Given the description of an element on the screen output the (x, y) to click on. 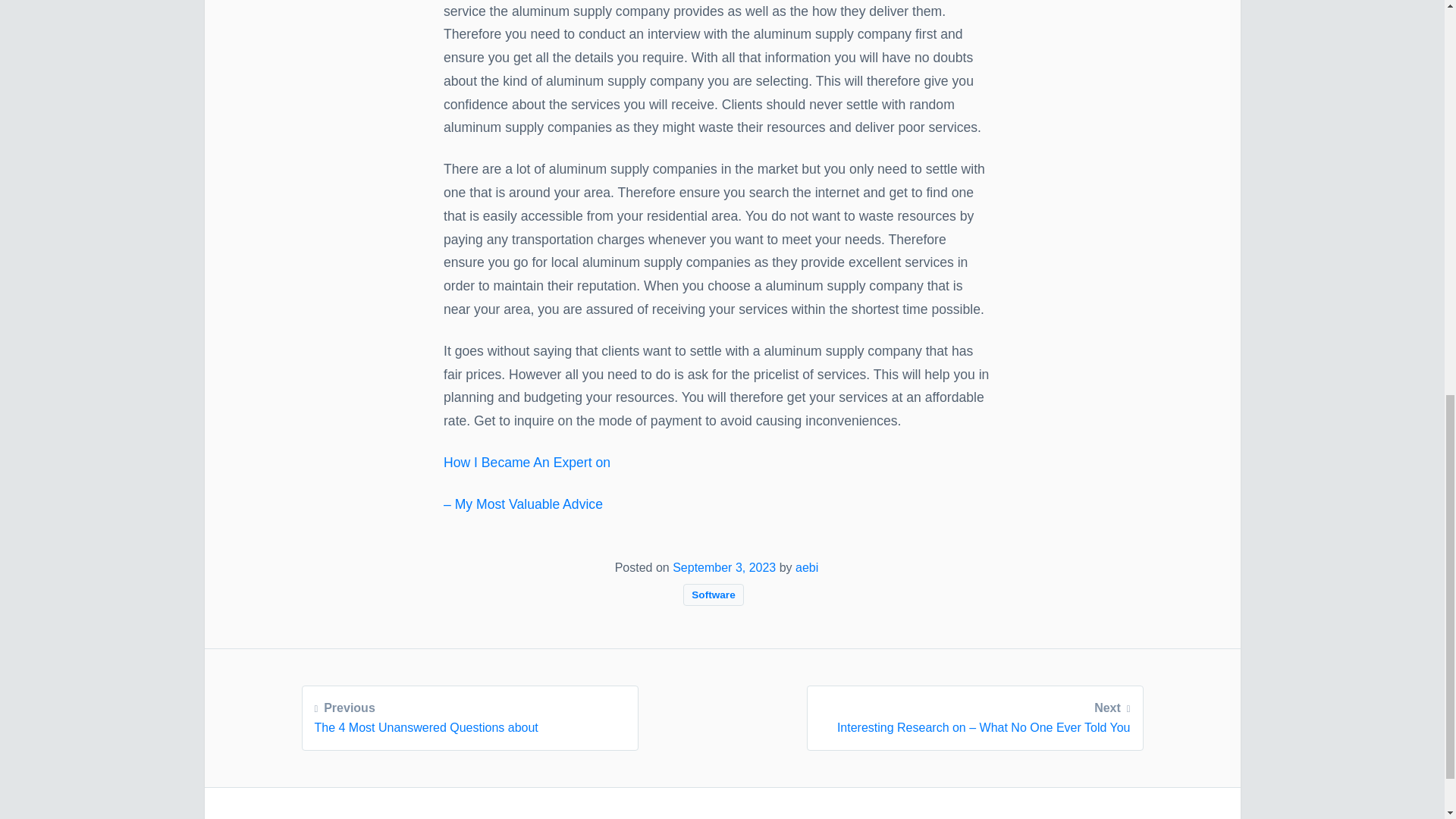
aebi (806, 567)
Software (713, 594)
September 3, 2023 (724, 567)
How I Became An Expert on (527, 462)
